Given the description of an element on the screen output the (x, y) to click on. 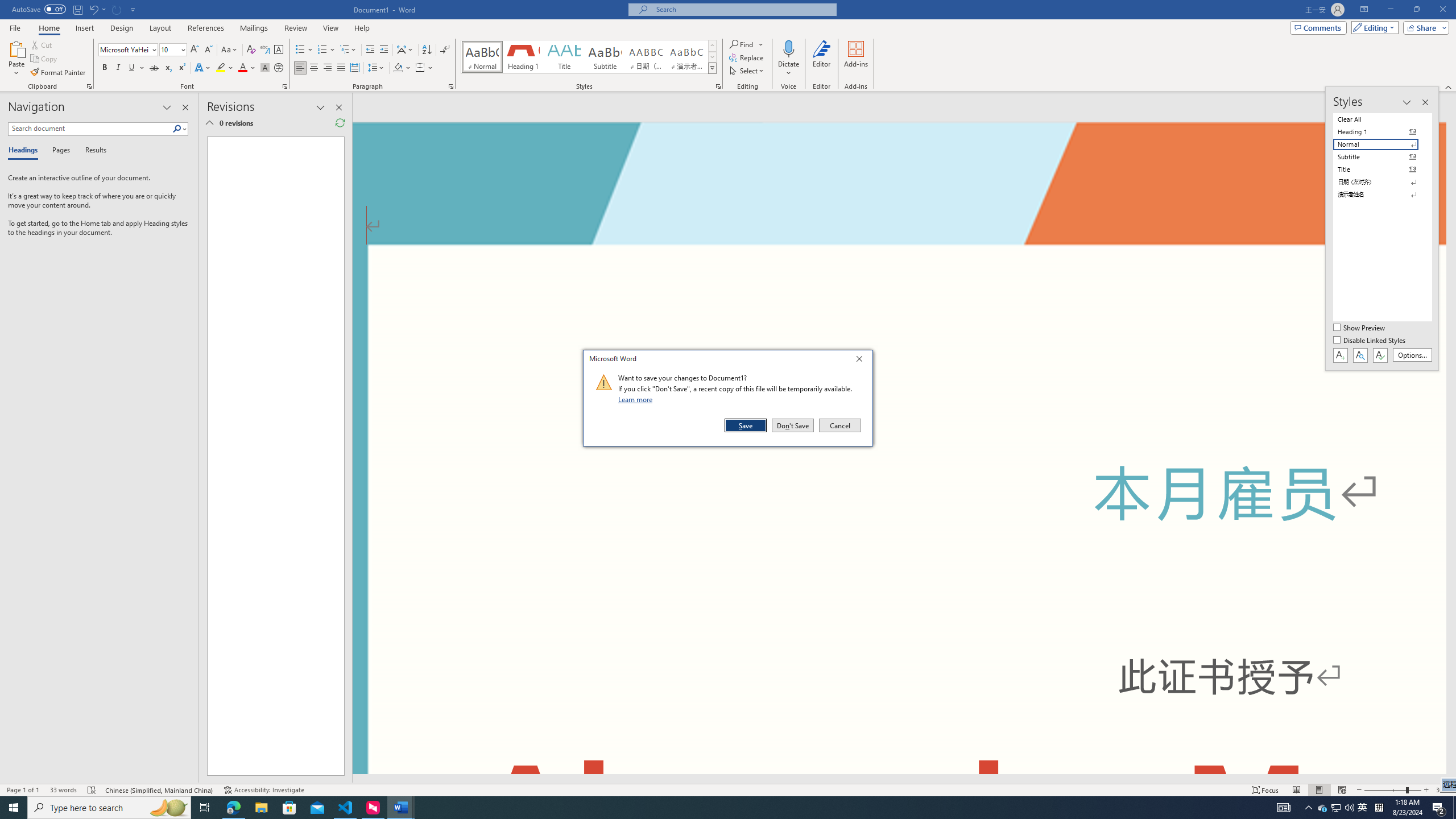
System (6, 6)
Italic (118, 67)
Print Layout (1318, 790)
Design (122, 28)
Task View (204, 807)
Office Clipboard... (88, 85)
AutomationID: 4105 (1283, 807)
Numbering (326, 49)
Undo Paragraph Alignment (92, 9)
Copy (45, 58)
Decrease Indent (370, 49)
Find (746, 44)
Search (177, 128)
Select (747, 69)
